Given the description of an element on the screen output the (x, y) to click on. 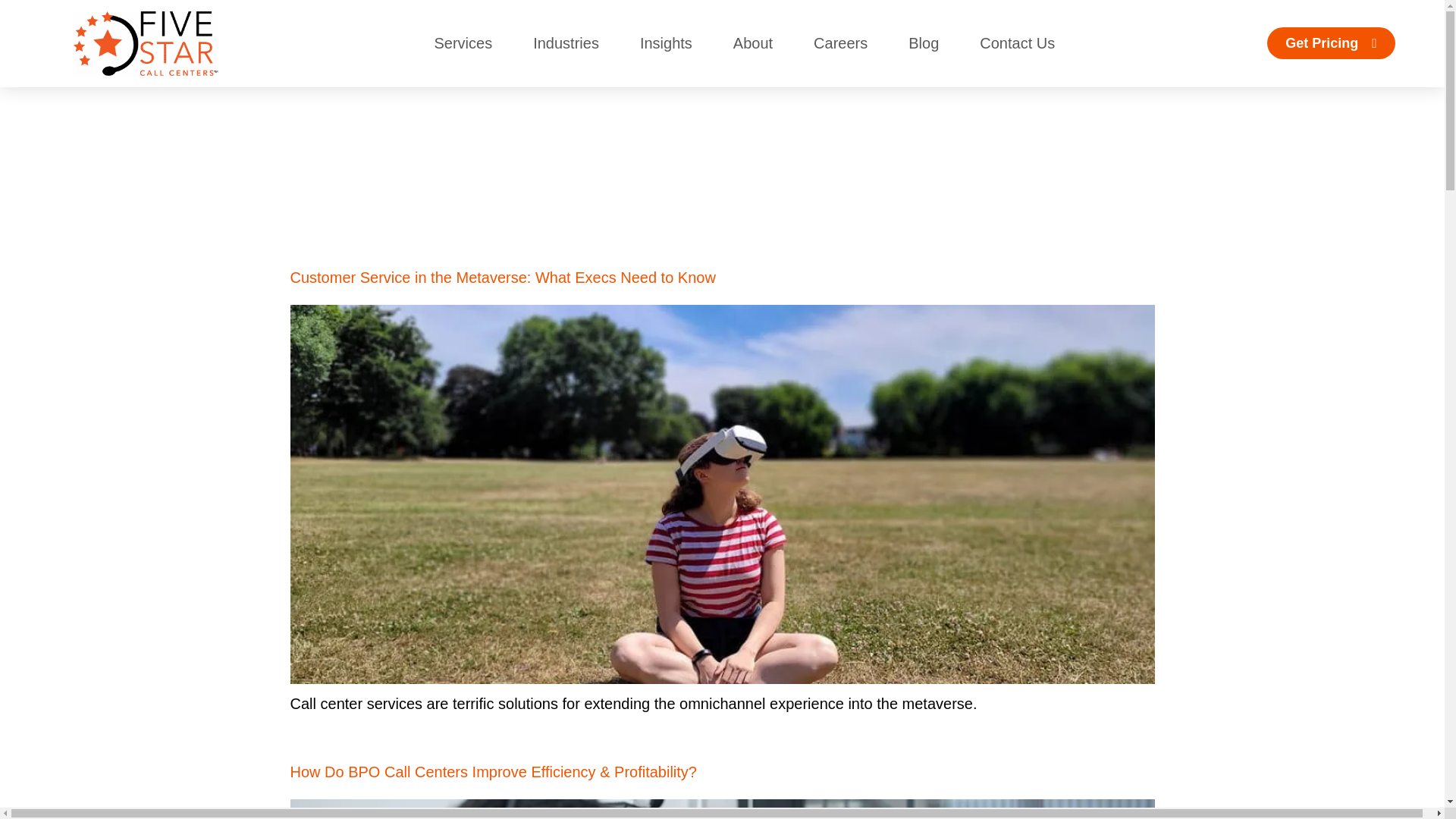
Insights (666, 42)
About (753, 42)
Industries (566, 42)
Contact Us (1017, 42)
Services (462, 42)
Blog (923, 42)
Careers (840, 42)
